Given the description of an element on the screen output the (x, y) to click on. 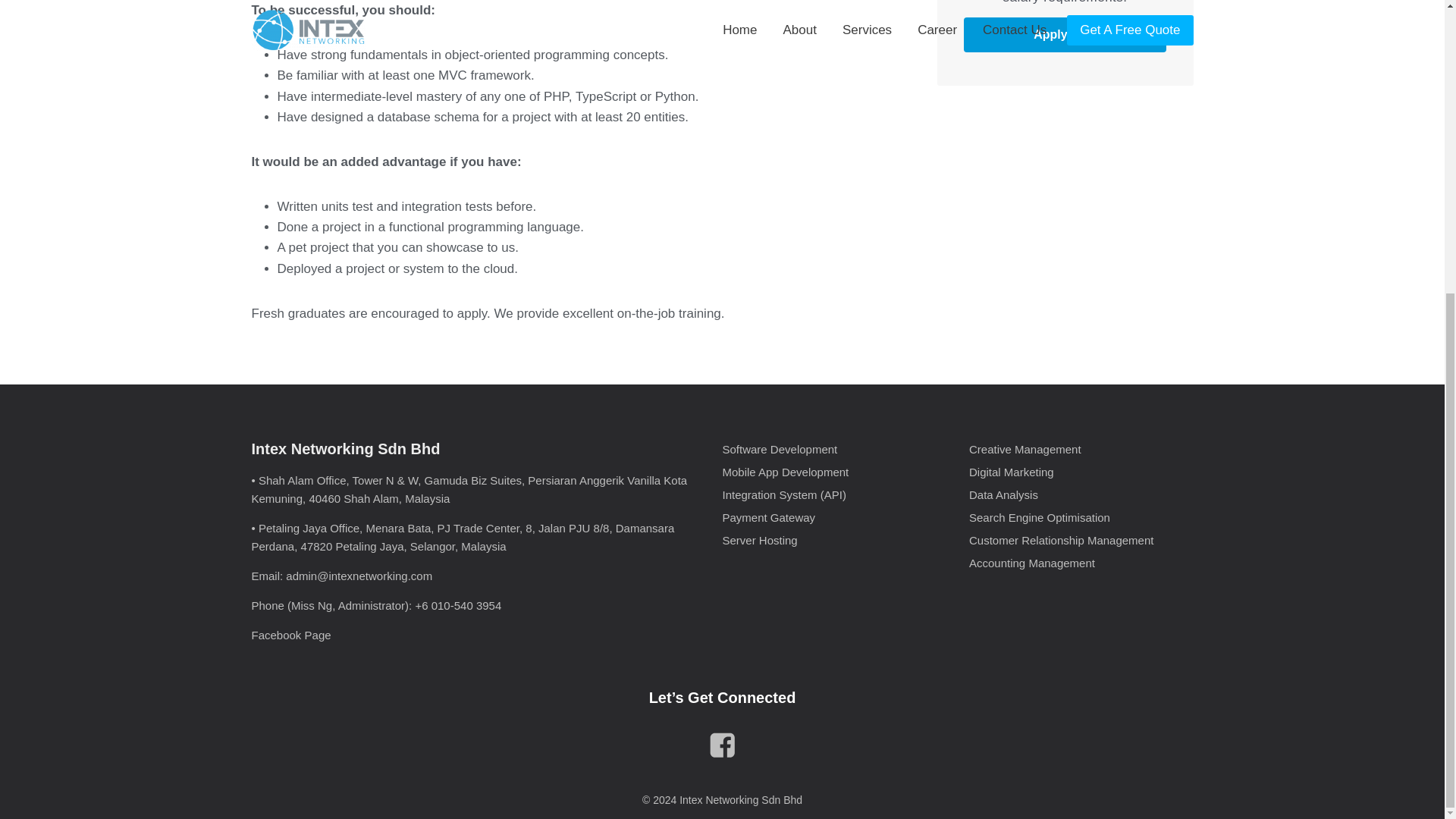
Customer Relationship Management (1081, 539)
Accounting Management (1081, 562)
Mobile App Development (834, 471)
Digital Marketing (1081, 471)
010-540 3954 (466, 604)
Data Analysis (1081, 494)
Payment Gateway (834, 517)
Facebook Page (291, 634)
Apply Now (1064, 34)
Software Development (834, 448)
Search Engine Optimisation (1081, 517)
Creative Management (1081, 448)
Server Hosting (834, 539)
